Given the description of an element on the screen output the (x, y) to click on. 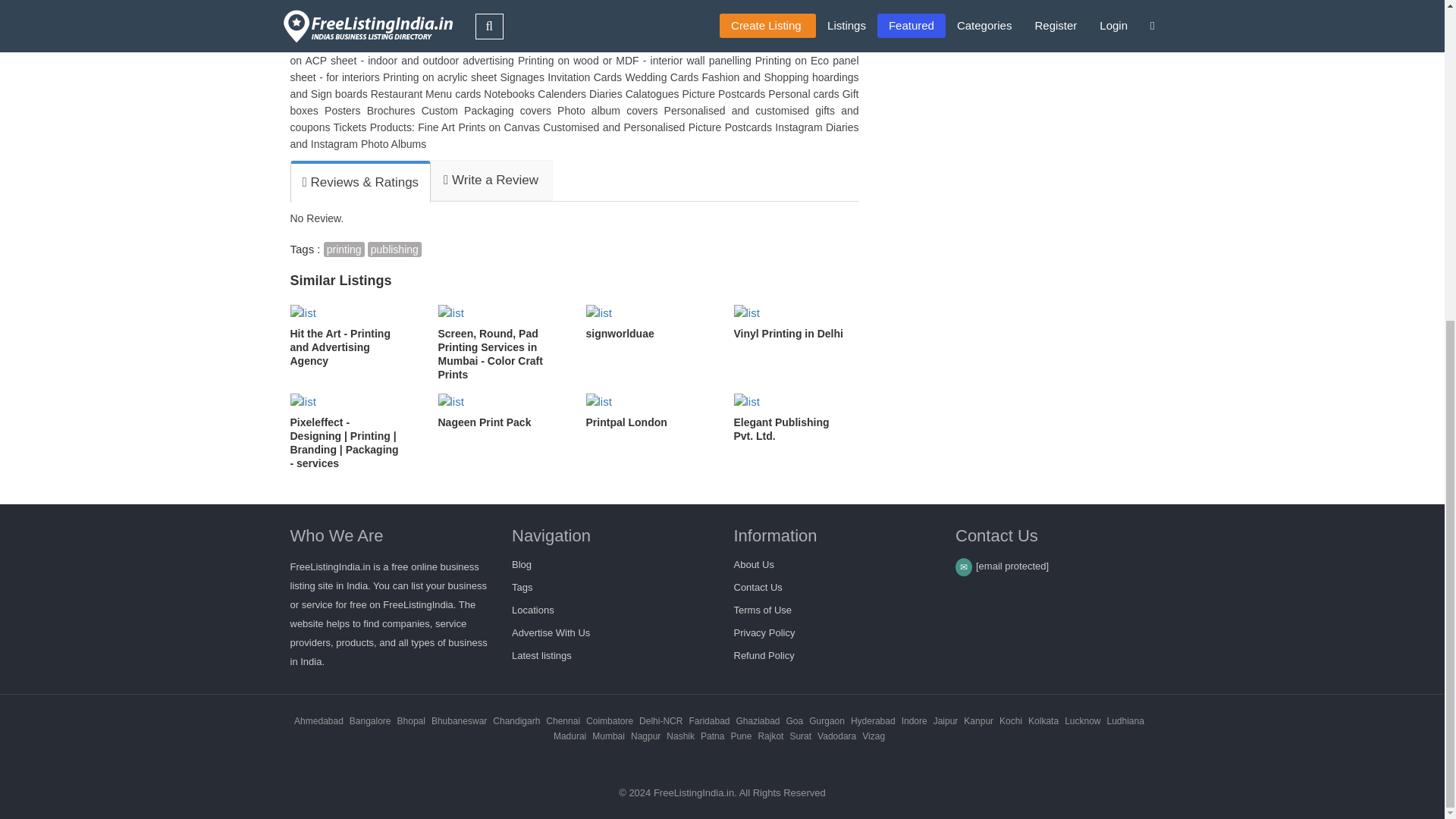
Local business listing in Bhubaneswar (458, 720)
Vinyl Printing in Delhi (796, 321)
signworlduae (647, 321)
Terms of Use (762, 609)
Contact Us (758, 586)
FreeListingIndia Blog (521, 564)
Tags (522, 586)
Advertise With Us (550, 632)
Hit the Art - Printing and Advertising Agency (351, 335)
